Given the description of an element on the screen output the (x, y) to click on. 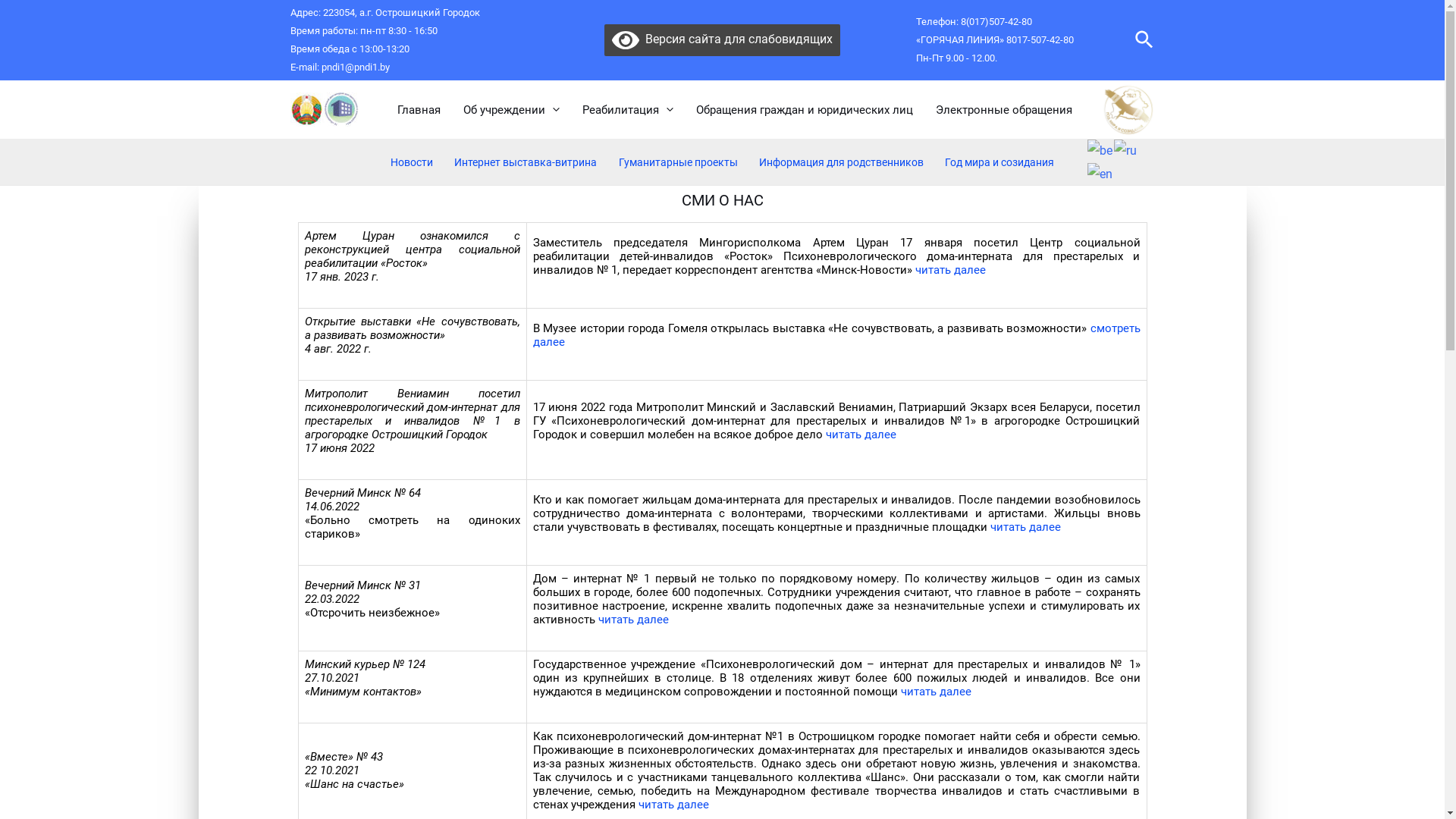
Russian Element type: hover (1125, 149)
English Element type: hover (1100, 173)
Belarusian Element type: hover (1100, 149)
